Given the description of an element on the screen output the (x, y) to click on. 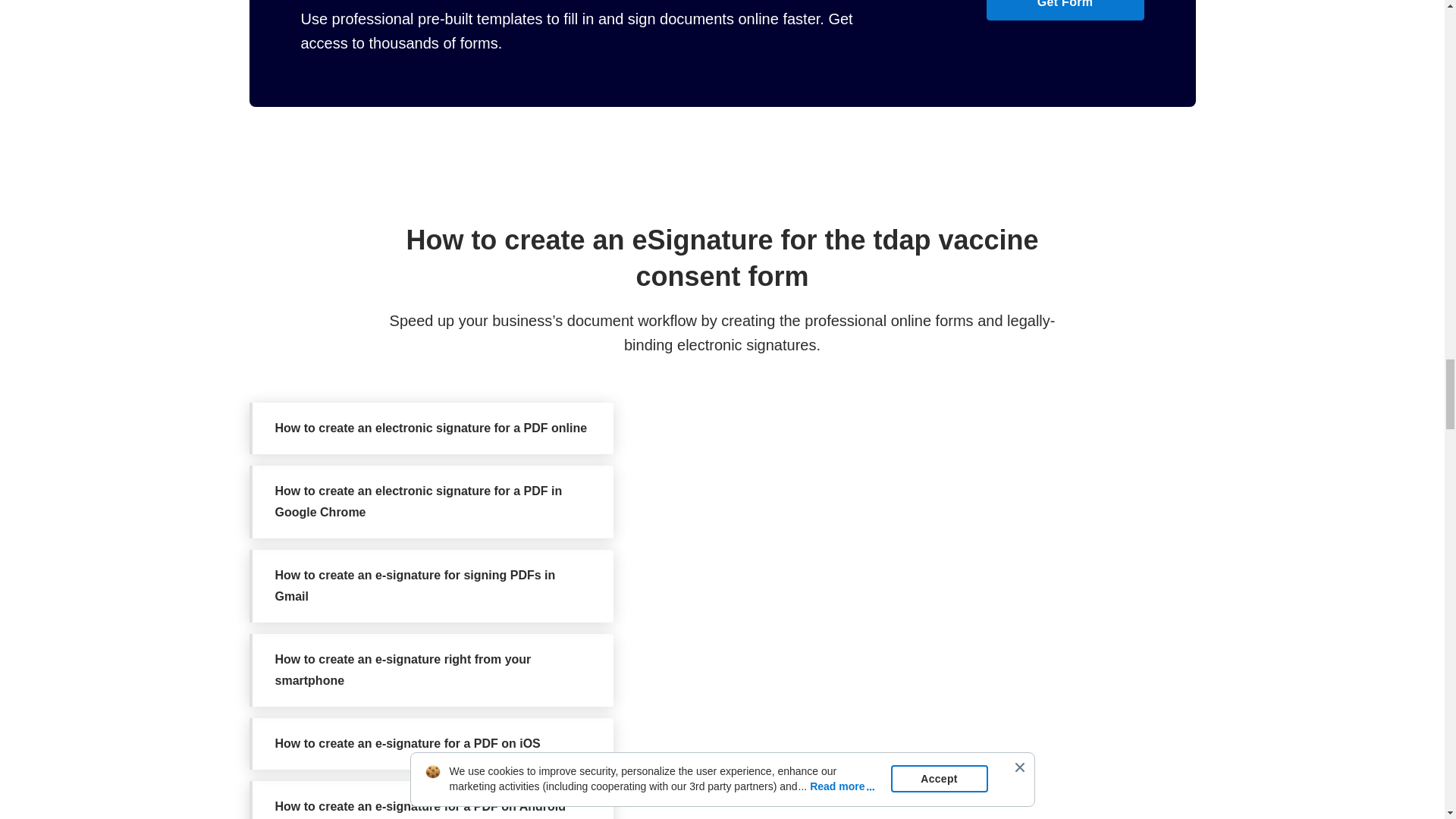
Get Form (1063, 10)
